Given the description of an element on the screen output the (x, y) to click on. 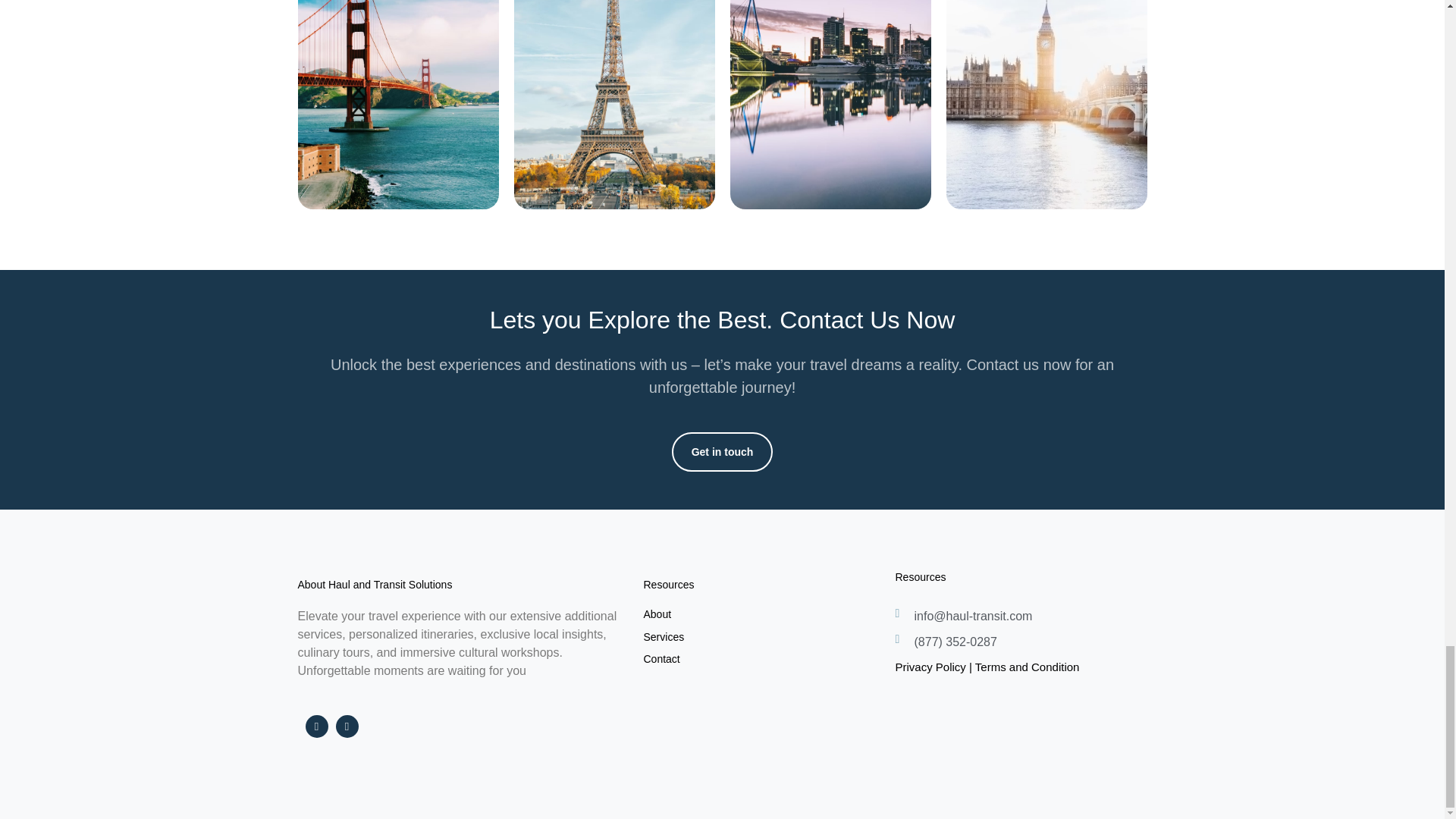
Get in touch (722, 451)
Terms and Condition (1027, 666)
About (657, 613)
Privacy Policy (930, 666)
Contact (661, 658)
Services (663, 636)
